Given the description of an element on the screen output the (x, y) to click on. 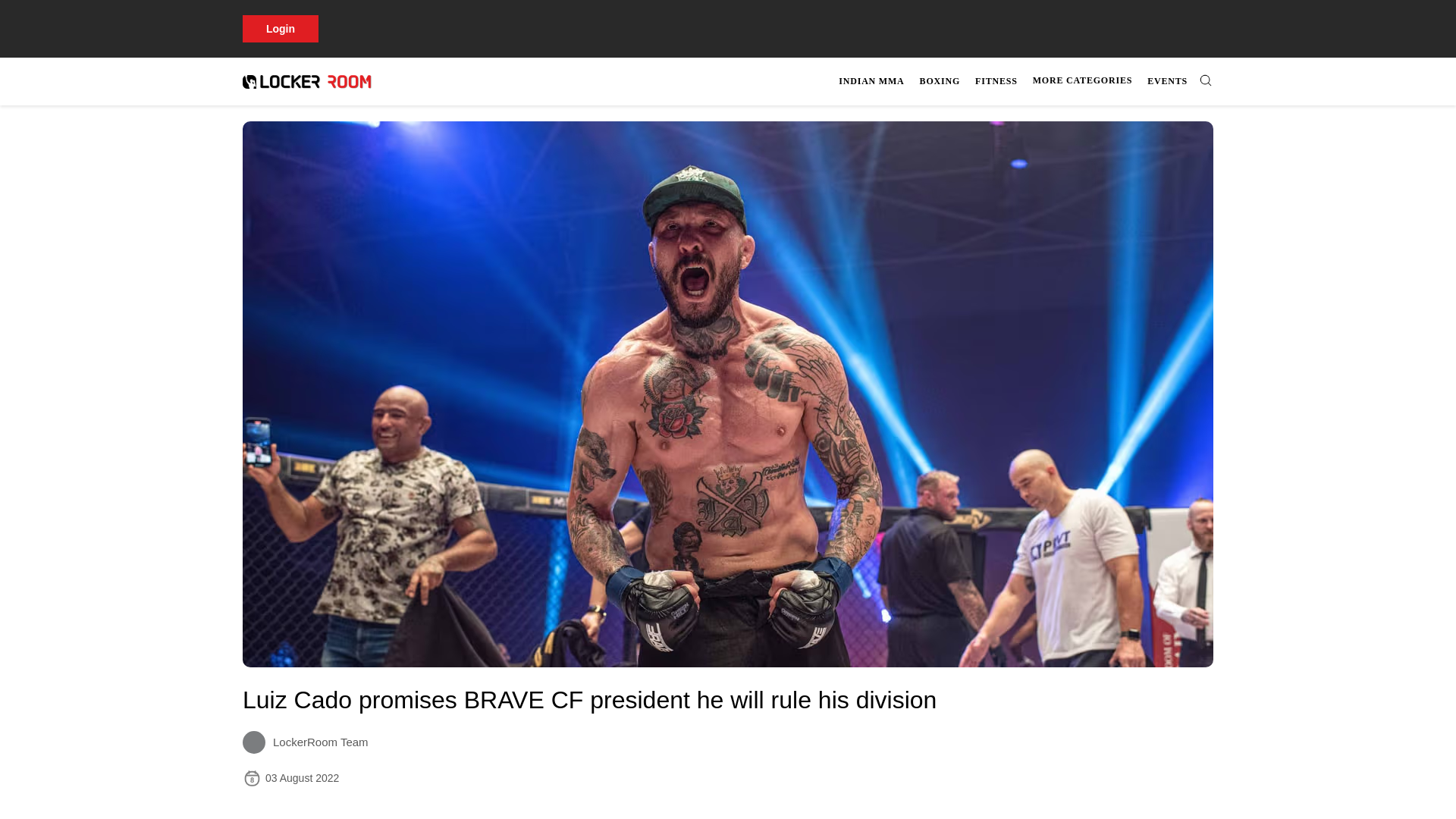
INDIAN MMA (871, 81)
EVENTS (1167, 81)
FITNESS (1023, 81)
Advertisement (996, 81)
MORE CATEGORIES (698, 807)
BOXING (1082, 80)
